Given the description of an element on the screen output the (x, y) to click on. 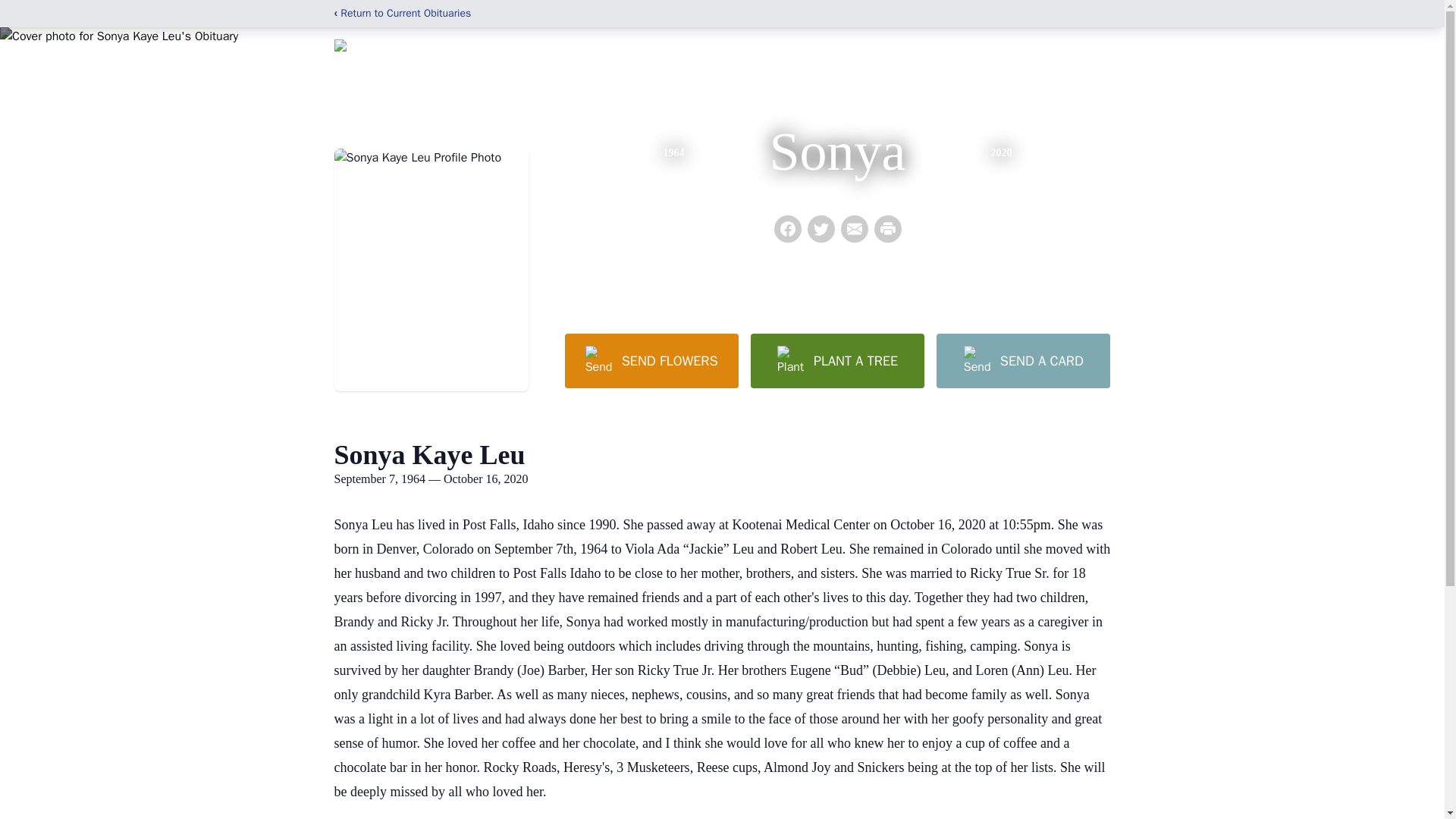
PLANT A TREE (837, 360)
SEND FLOWERS (651, 360)
SEND A CARD (1022, 360)
